Given the description of an element on the screen output the (x, y) to click on. 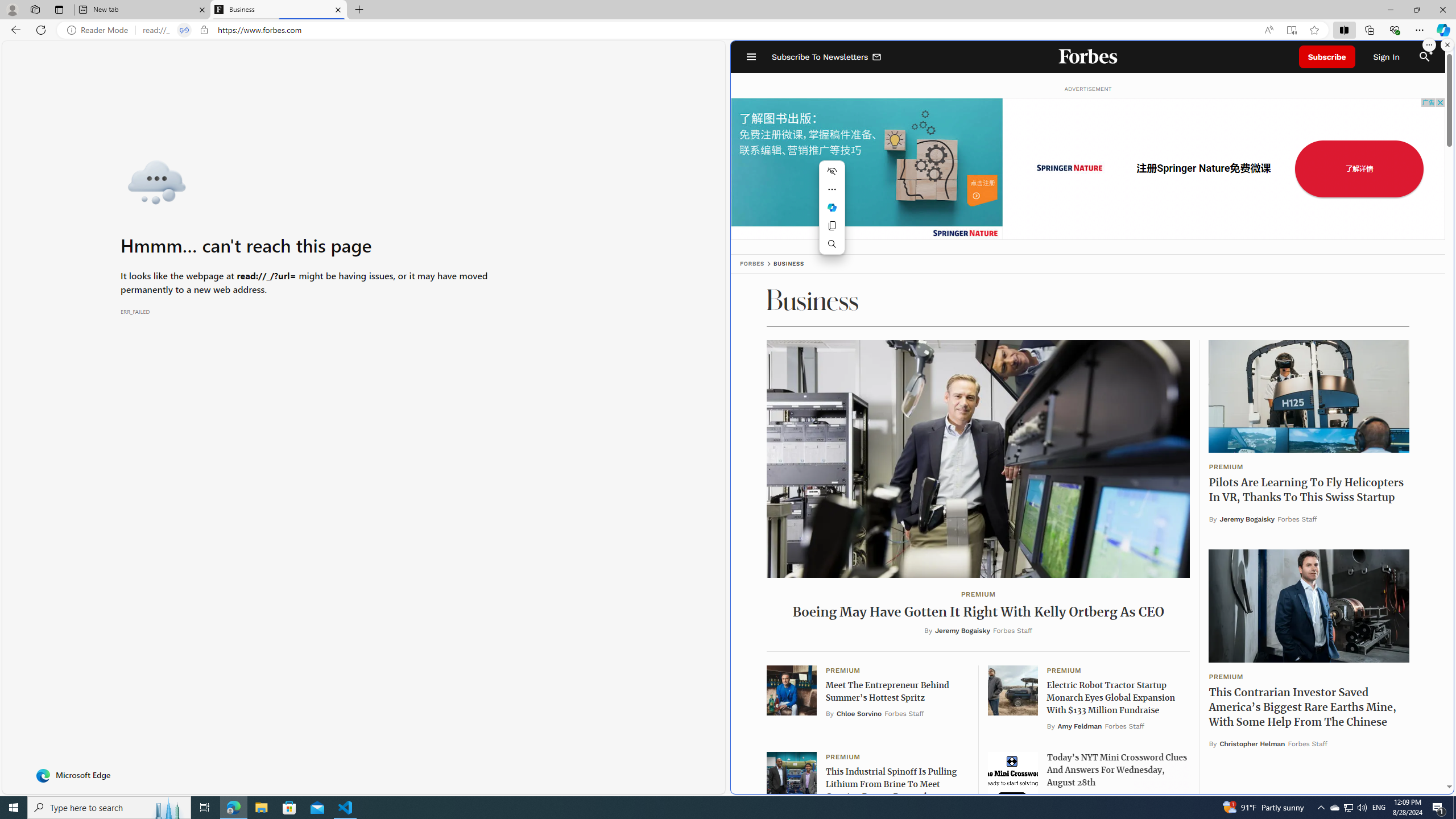
Christopher Helman (1252, 743)
Subscribe To Newsletters (826, 56)
Class: search_svg__fs-icon search_svg__fs-icon--search (1424, 56)
Enter Immersive Reader (F9) (1291, 29)
